Given the description of an element on the screen output the (x, y) to click on. 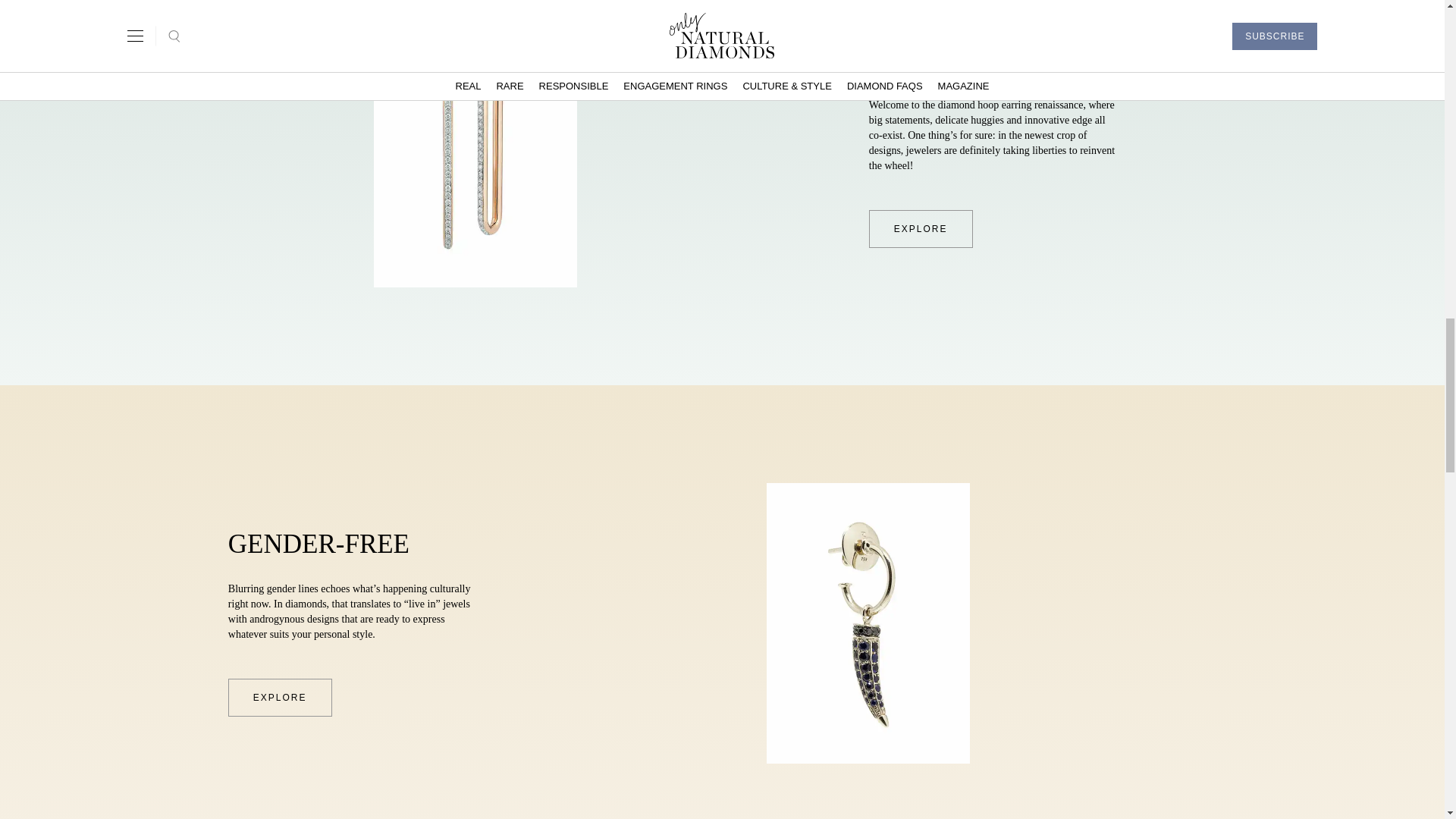
Page 4 (351, 610)
Page 4 (992, 134)
